Given the description of an element on the screen output the (x, y) to click on. 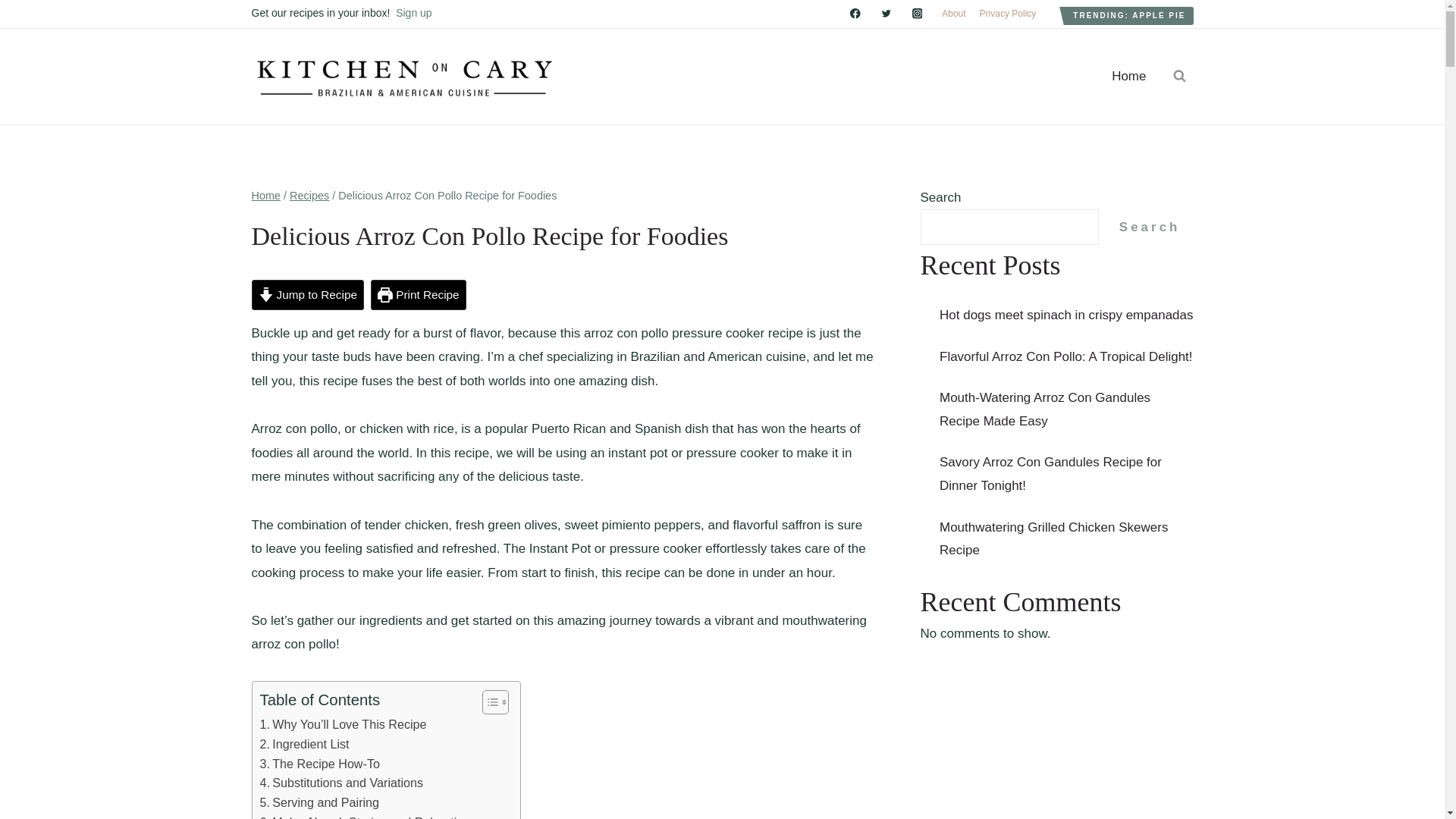
Ingredient List (304, 744)
Serving and Pairing (318, 803)
Substitutions and Variations (341, 783)
Jump to Recipe (307, 295)
Home (1128, 76)
Sign up (413, 12)
Recipes (309, 195)
TRENDING: APPLE PIE (1128, 15)
About (953, 13)
Home (266, 195)
